Given the description of an element on the screen output the (x, y) to click on. 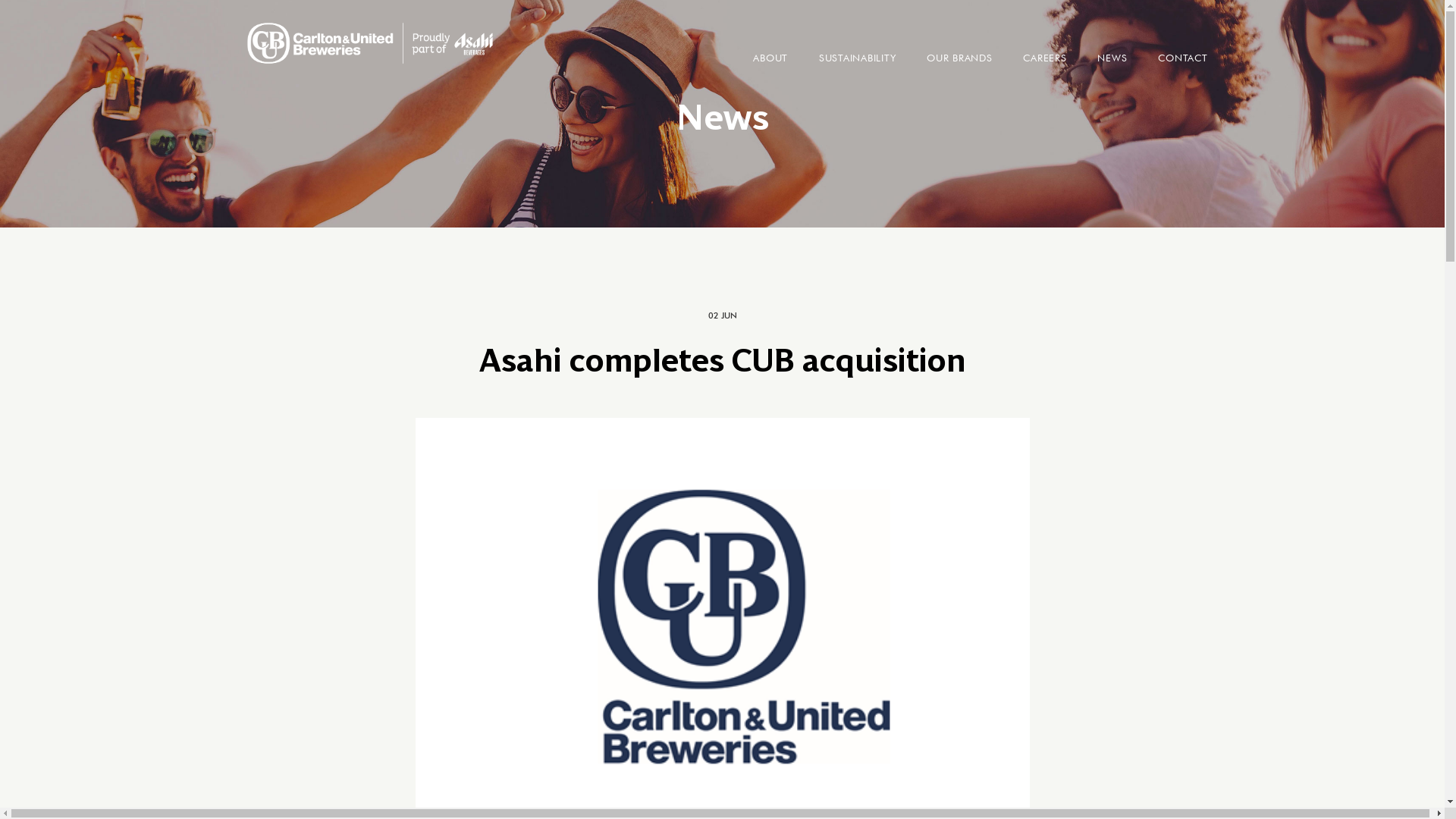
NEWS Element type: text (1111, 63)
Asahi completes CUB acquisition Element type: text (722, 359)
SUSTAINABILITY Element type: text (857, 63)
CONTACT Element type: text (1182, 63)
OUR BRANDS Element type: text (959, 63)
ABOUT Element type: text (770, 63)
CAREERS Element type: text (1044, 63)
